Given the description of an element on the screen output the (x, y) to click on. 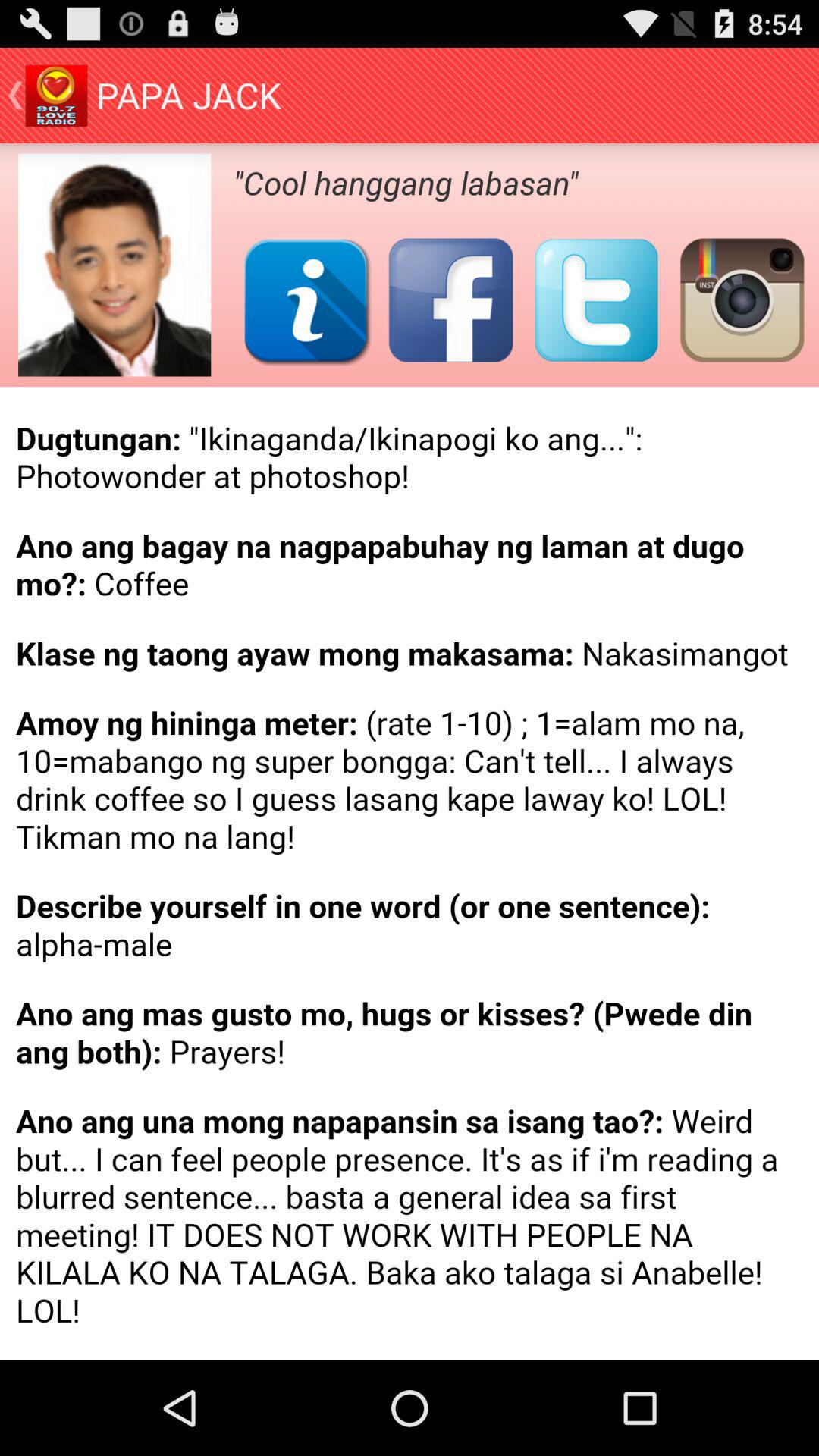
access instagram profile (742, 299)
